Given the description of an element on the screen output the (x, y) to click on. 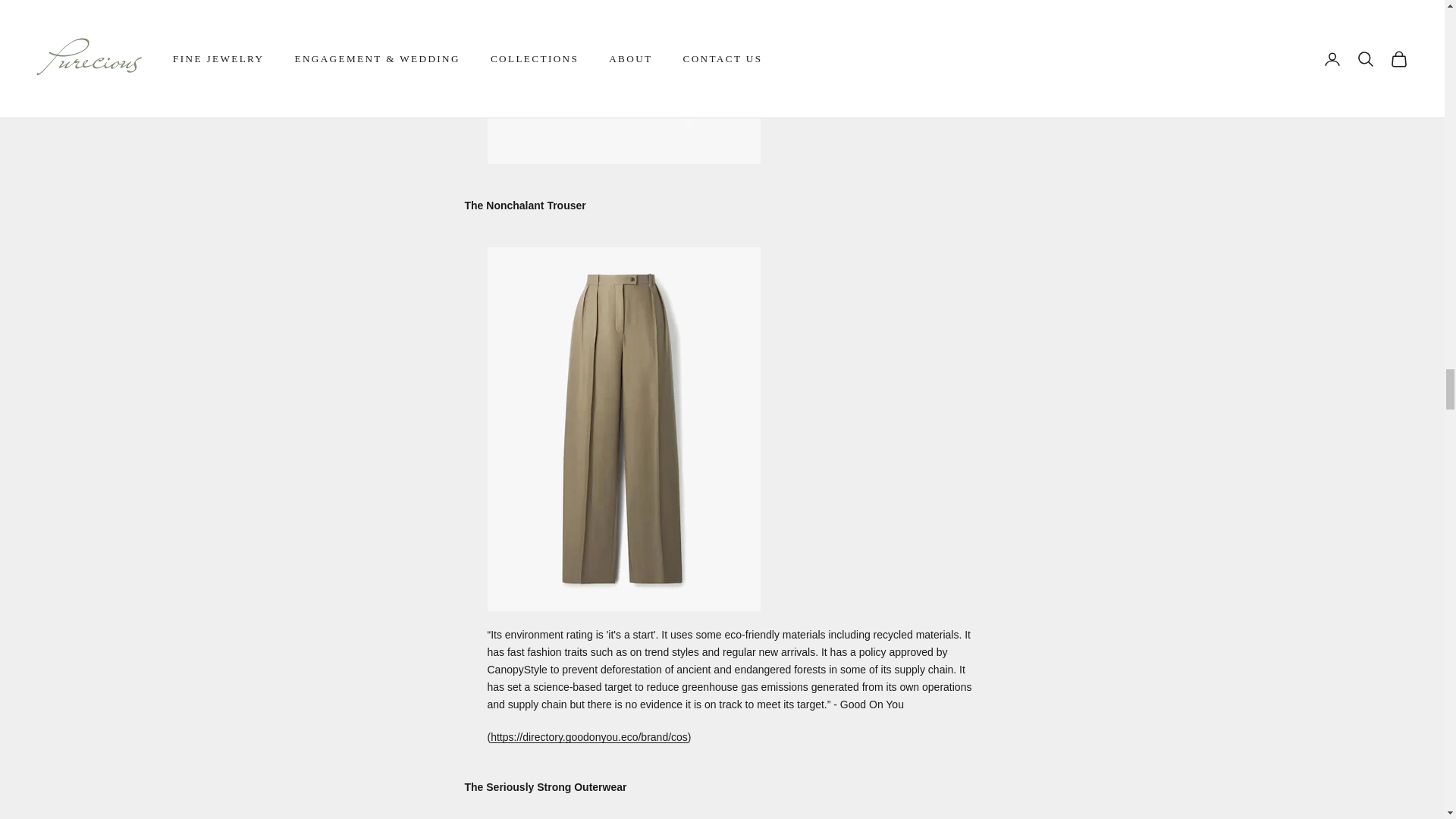
Randa Pleated Pants (623, 427)
